Given the description of an element on the screen output the (x, y) to click on. 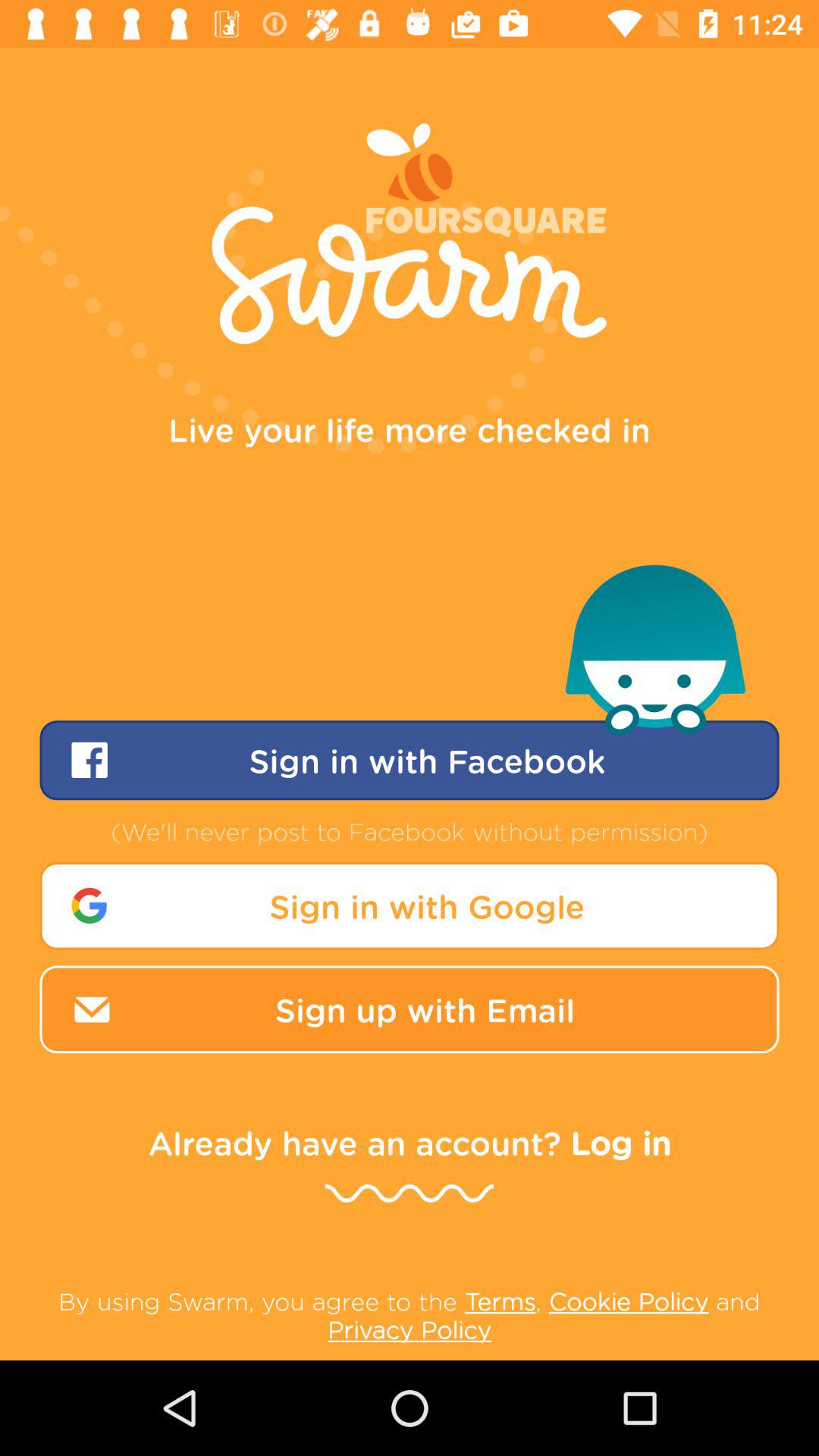
flip until the already have an item (409, 1142)
